Given the description of an element on the screen output the (x, y) to click on. 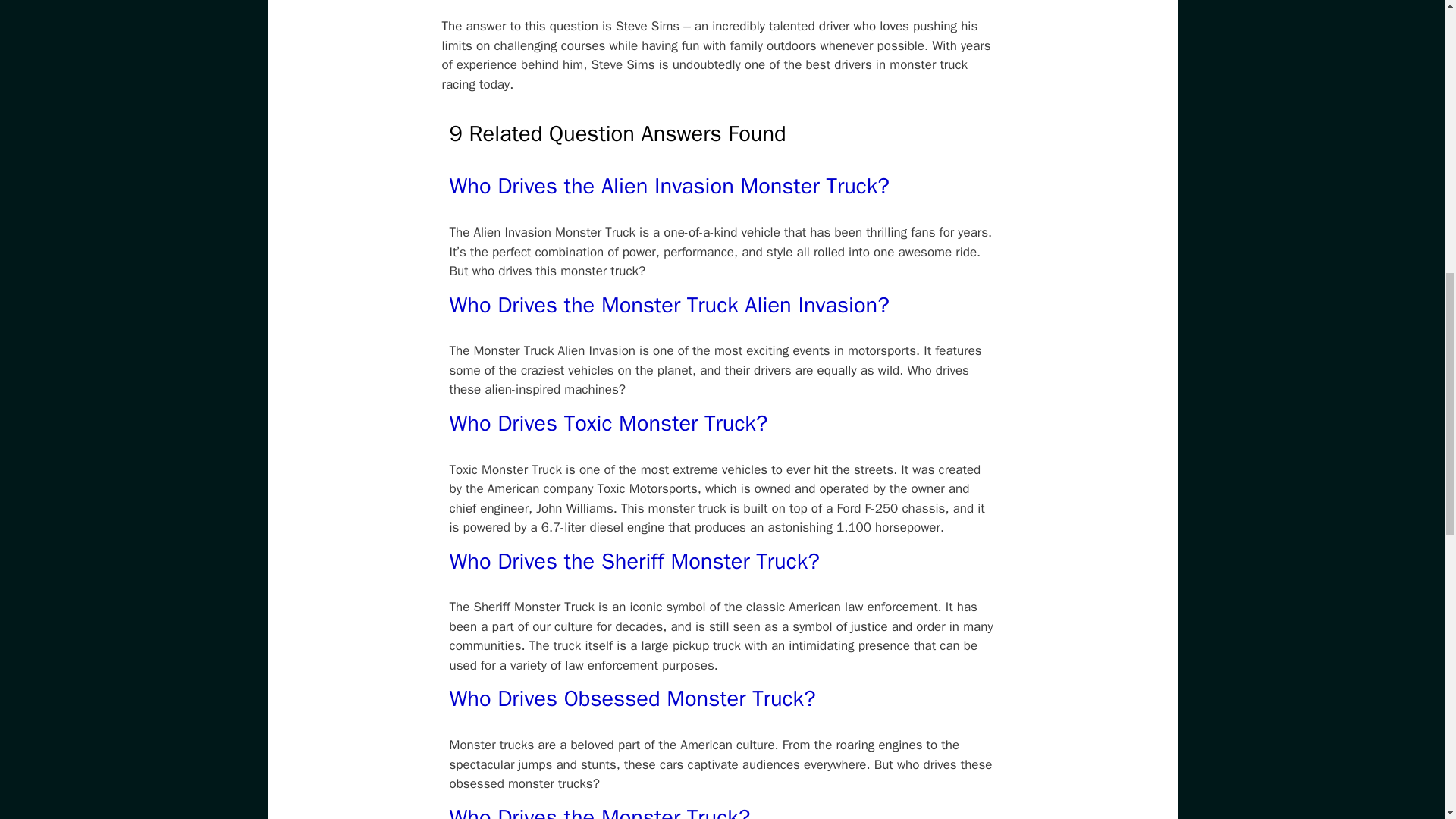
Who Drives Obsessed Monster Truck? (631, 698)
Who Drives the Sheriff Monster Truck? (633, 561)
Who Drives the Monster Truck Alien Invasion? (668, 305)
Who Drives Toxic Monster Truck? (607, 423)
Who Drives the Monster Truck? (598, 811)
Who Drives the Alien Invasion Monster Truck? (668, 185)
